Given the description of an element on the screen output the (x, y) to click on. 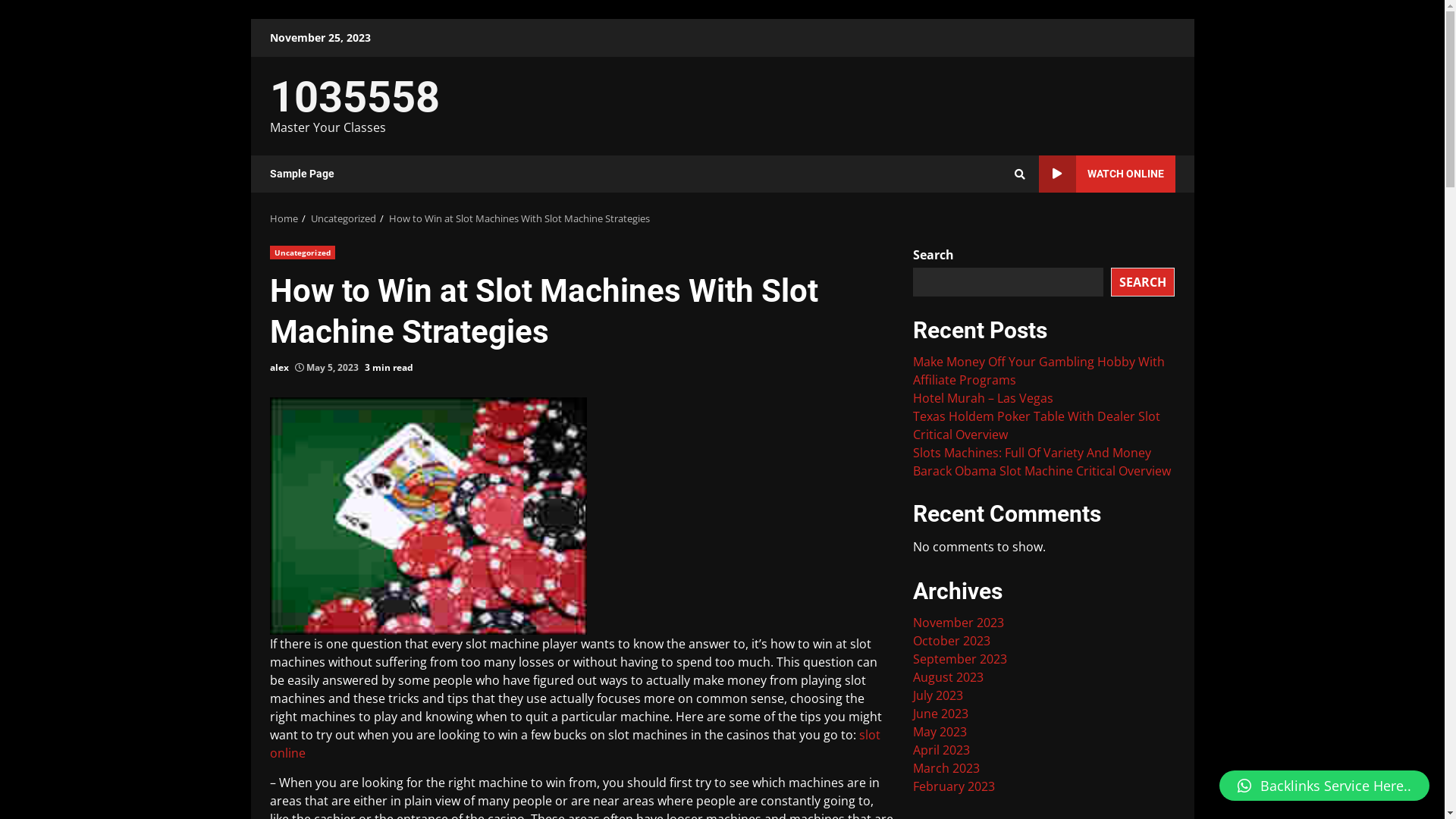
Slots Machines: Full Of Variety And Money Element type: text (1032, 452)
July 2023 Element type: text (938, 695)
April 2023 Element type: text (941, 749)
Backlinks Service Here.. Element type: text (1324, 785)
Make Money Off Your Gambling Hobby With Affiliate Programs Element type: text (1038, 370)
Skip to content Element type: text (250, 18)
Uncategorized Element type: text (302, 252)
1035558 Element type: text (354, 97)
SEARCH Element type: text (1142, 280)
Search Element type: text (991, 225)
Home Element type: text (283, 218)
Texas Holdem Poker Table With Dealer Slot Critical Overview Element type: text (1036, 424)
February 2023 Element type: text (953, 786)
Search Element type: hover (1019, 173)
alex Element type: text (278, 367)
June 2023 Element type: text (940, 713)
WATCH ONLINE Element type: text (1106, 173)
Sample Page Element type: text (301, 173)
May 2023 Element type: text (939, 731)
March 2023 Element type: text (946, 767)
slot online Element type: text (574, 743)
October 2023 Element type: text (951, 640)
September 2023 Element type: text (960, 658)
November 2023 Element type: text (958, 622)
August 2023 Element type: text (948, 676)
How to Win at Slot Machines With Slot Machine Strategies Element type: text (518, 218)
Uncategorized Element type: text (343, 218)
Barack Obama Slot Machine Critical Overview Element type: text (1041, 470)
